Given the description of an element on the screen output the (x, y) to click on. 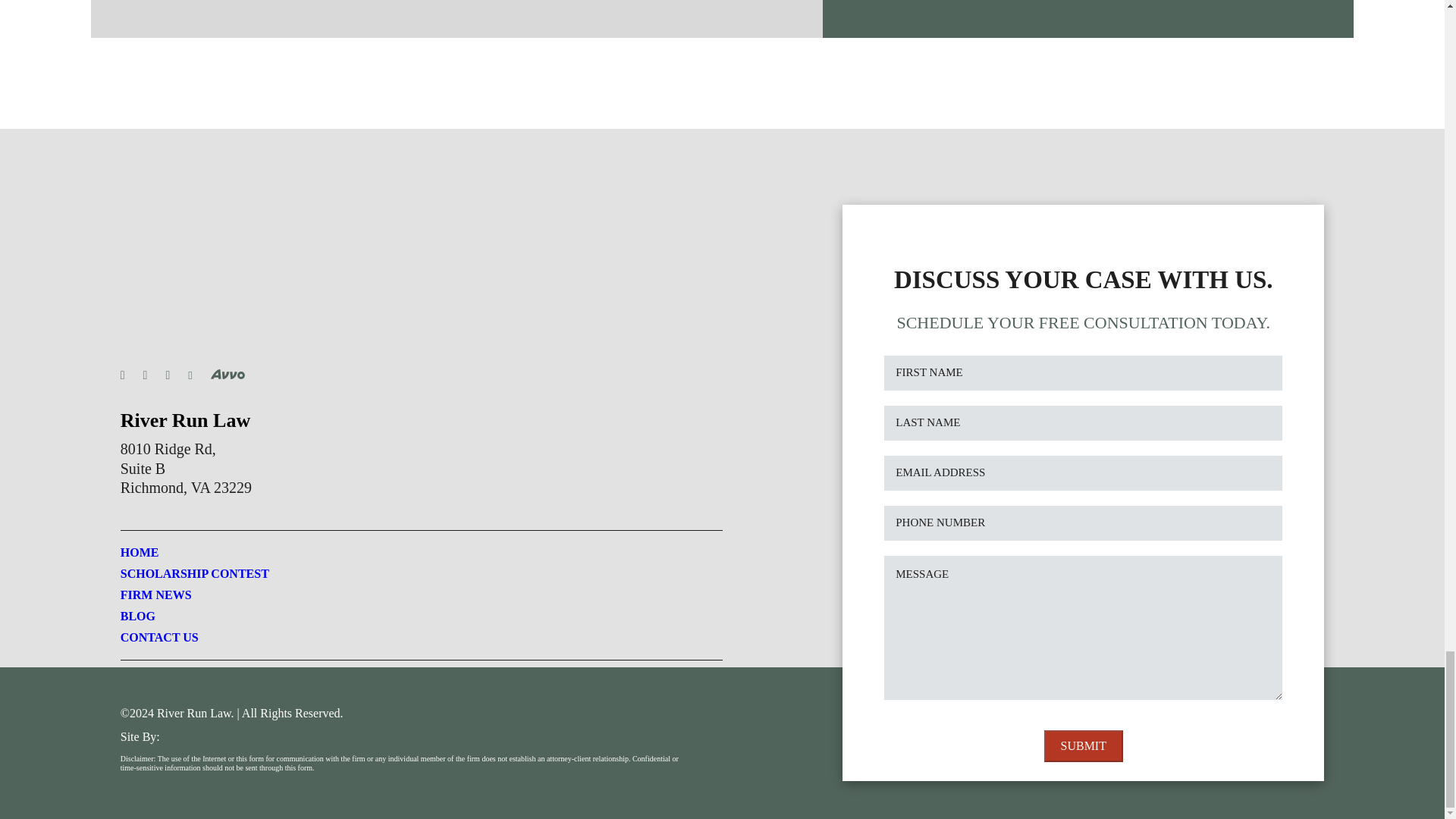
Site by Juris Digital Law Firm Marketing (220, 736)
